Given the description of an element on the screen output the (x, y) to click on. 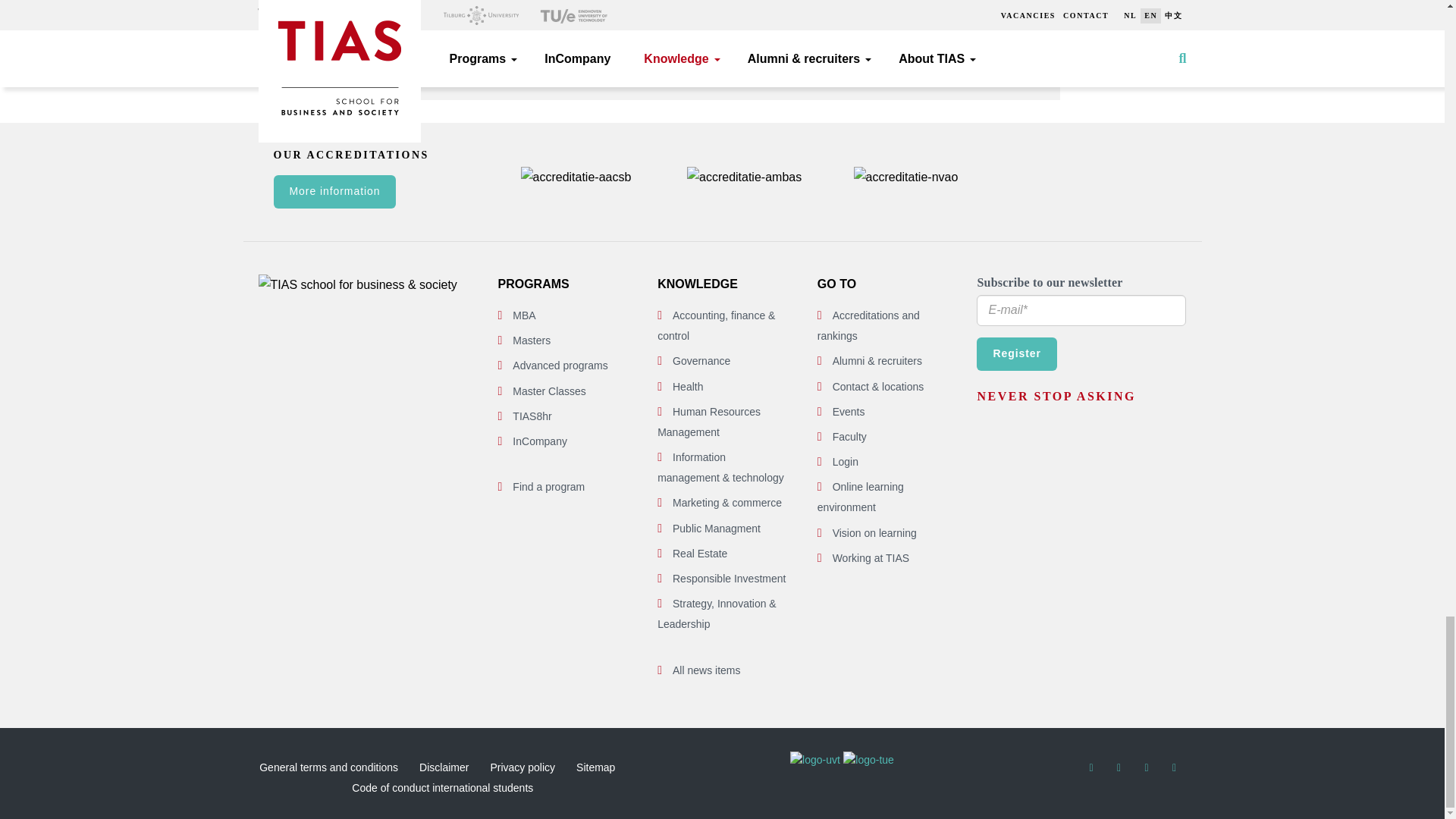
accreditatie-aacsb (574, 177)
Accreditations and rankings (868, 325)
Faculty (849, 436)
Login (845, 461)
Register (1016, 354)
accreditatie-nvao (905, 177)
accreditatie-ambas (744, 177)
Events at TIAS (848, 411)
